Given the description of an element on the screen output the (x, y) to click on. 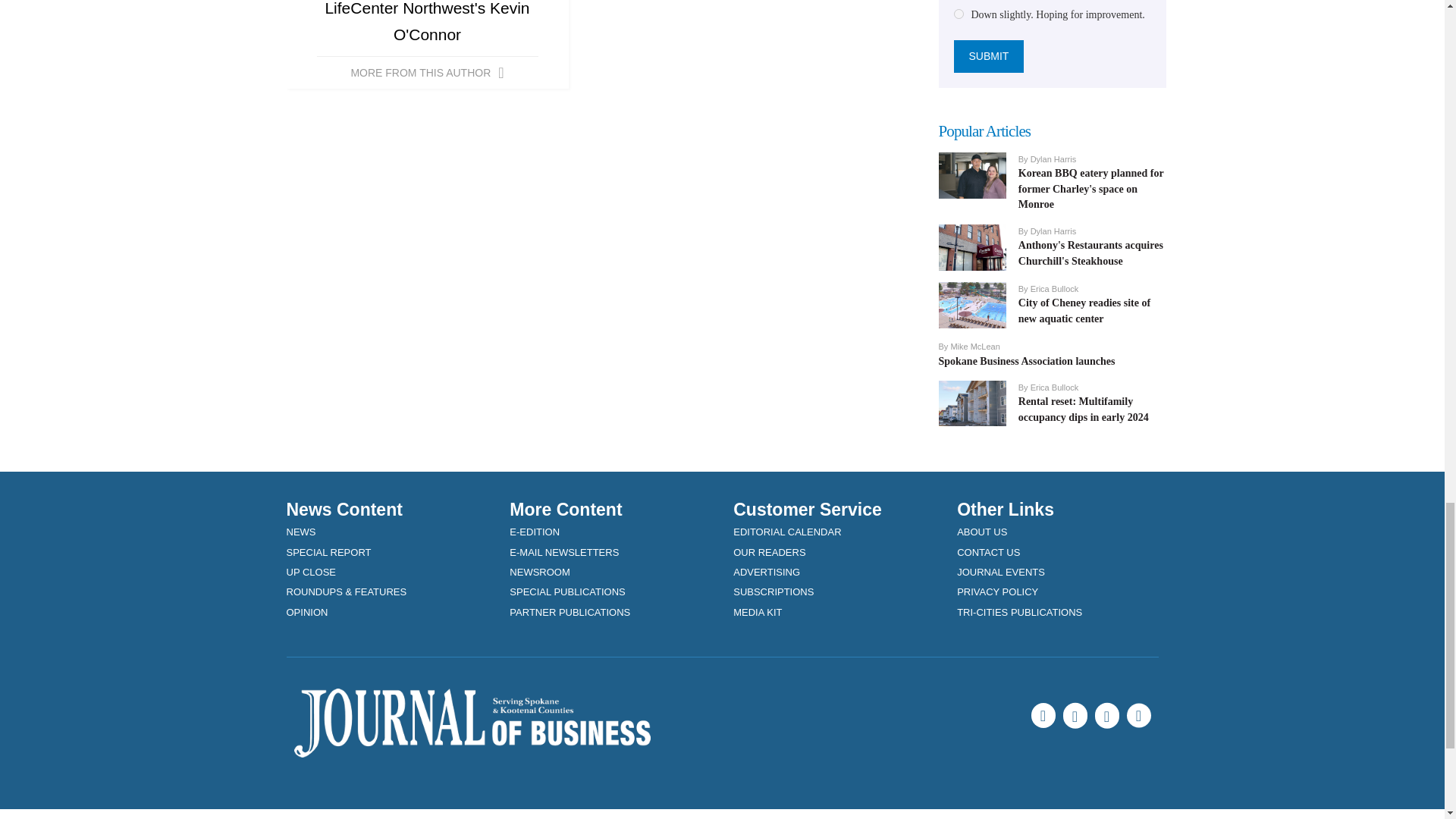
37 (958, 13)
Submit (989, 56)
